Given the description of an element on the screen output the (x, y) to click on. 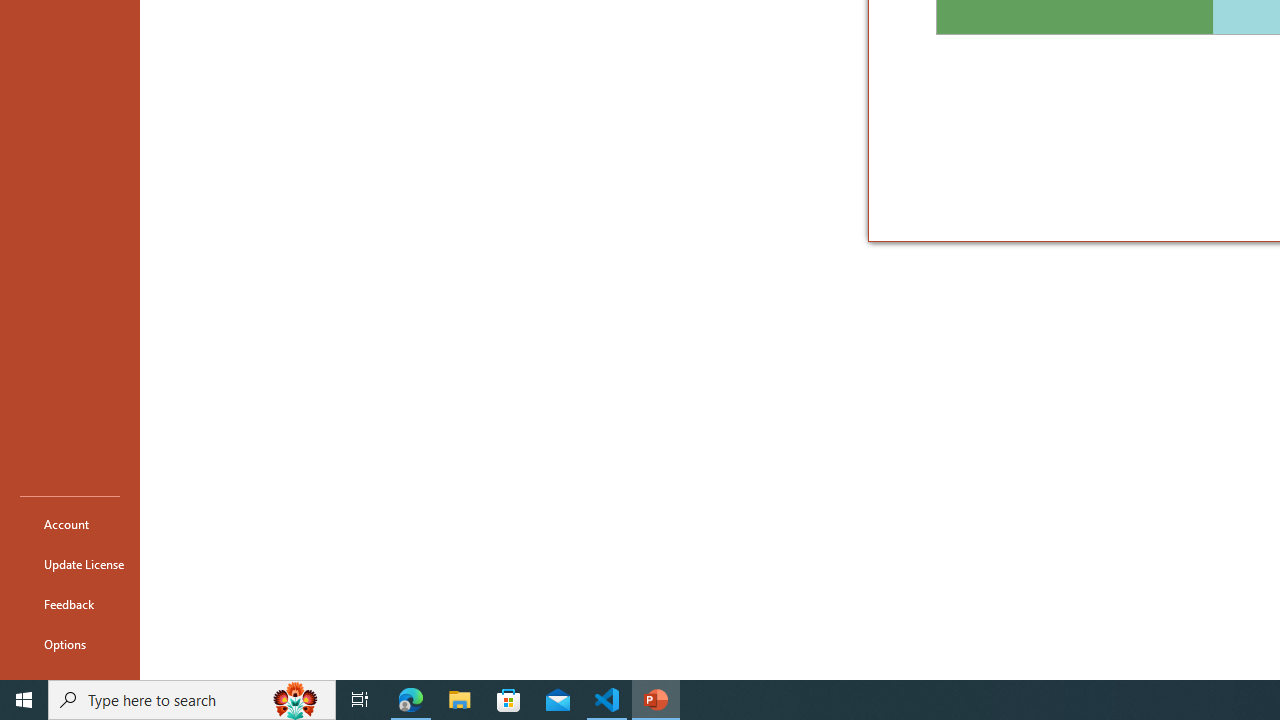
Options (69, 643)
Account (69, 523)
Feedback (69, 603)
Update License (69, 563)
